Given the description of an element on the screen output the (x, y) to click on. 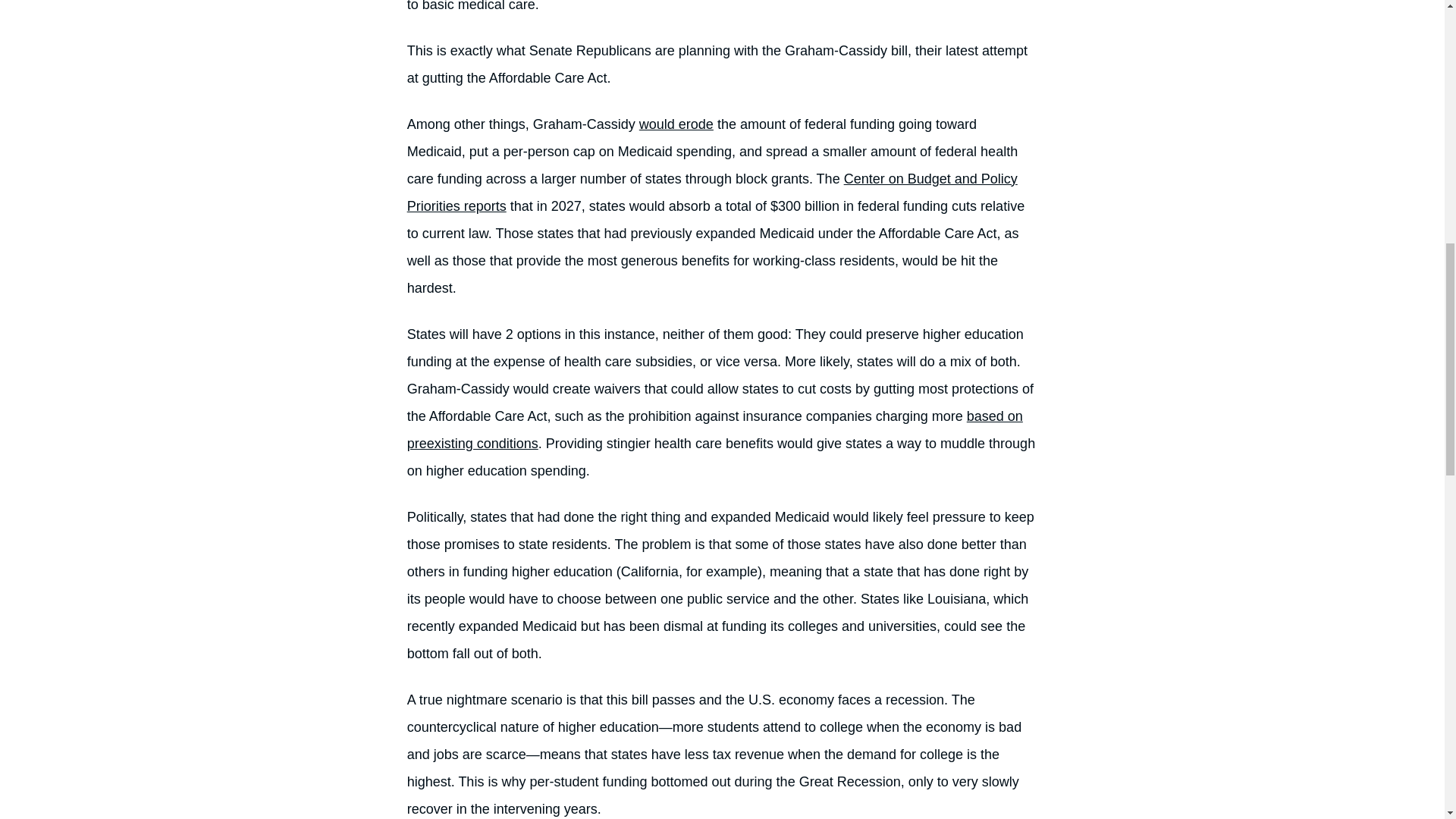
Center on Budget and Policy Priorities reports (712, 192)
would erode (676, 124)
based on preexisting conditions (715, 429)
